Given the description of an element on the screen output the (x, y) to click on. 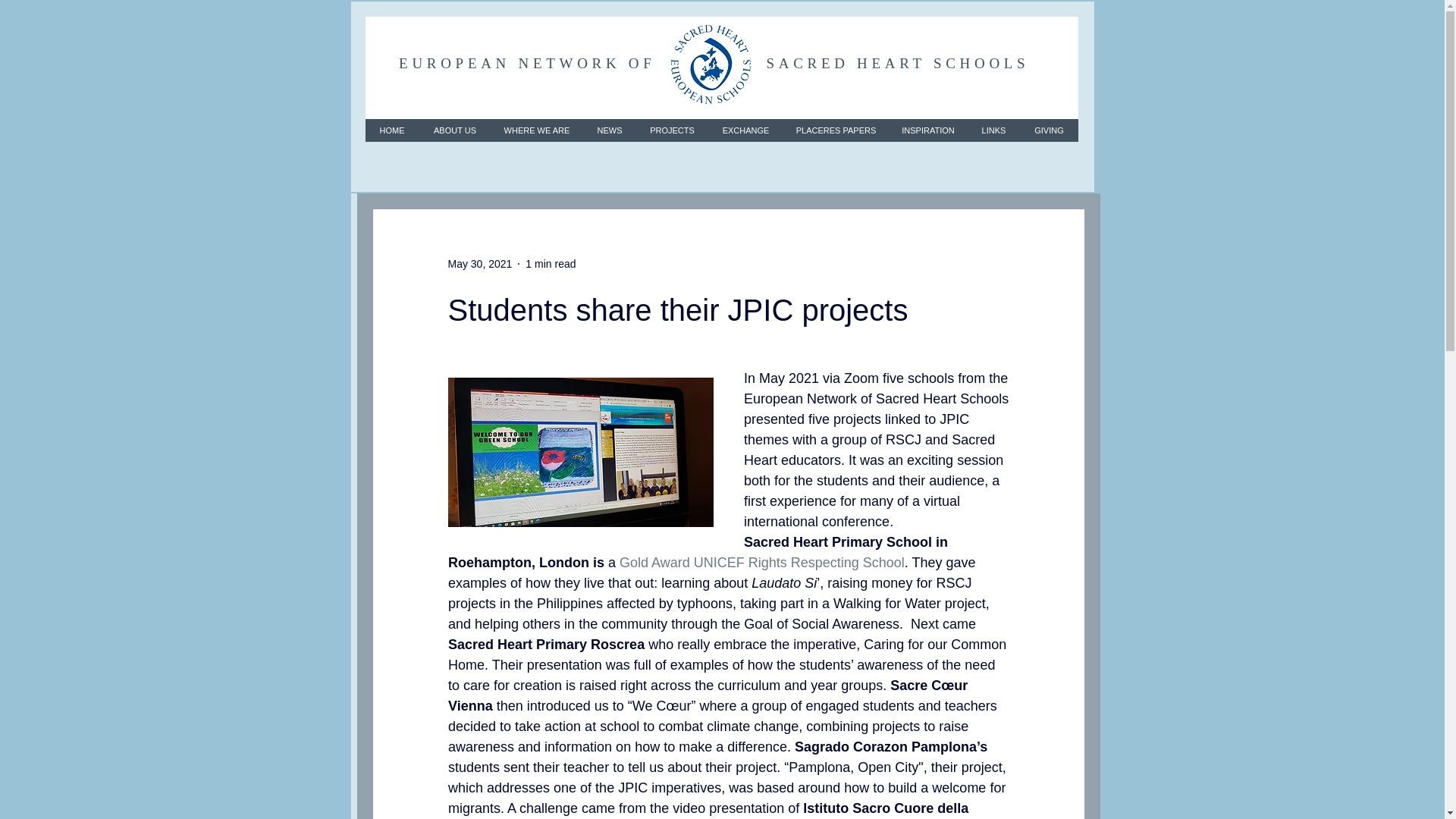
PLACERES PAPERS (835, 129)
INSPIRATION (928, 129)
LINKS (994, 129)
May 30, 2021 (479, 263)
GIVING (1048, 129)
HOME (392, 129)
Gold Award UNICEF Rights Respecting School (761, 562)
NEWS (608, 129)
1 min read (550, 263)
